Given the description of an element on the screen output the (x, y) to click on. 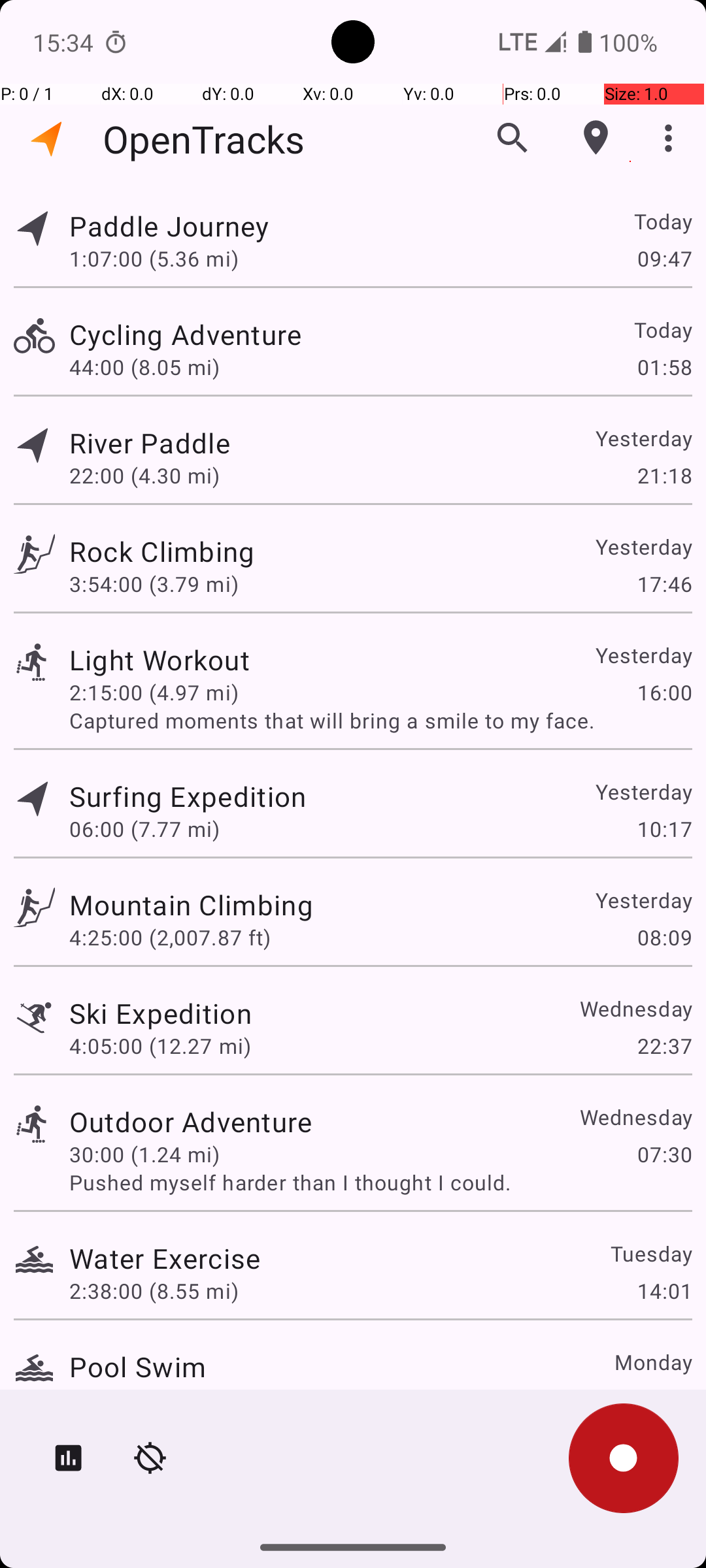
Paddle Journey Element type: android.widget.TextView (168, 225)
1:07:00 (5.36 mi) Element type: android.widget.TextView (153, 258)
09:47 Element type: android.widget.TextView (664, 258)
Cycling Adventure Element type: android.widget.TextView (185, 333)
44:00 (8.05 mi) Element type: android.widget.TextView (144, 366)
01:58 Element type: android.widget.TextView (664, 366)
River Paddle Element type: android.widget.TextView (149, 442)
22:00 (4.30 mi) Element type: android.widget.TextView (144, 475)
21:18 Element type: android.widget.TextView (664, 475)
Rock Climbing Element type: android.widget.TextView (161, 550)
3:54:00 (3.79 mi) Element type: android.widget.TextView (153, 583)
17:46 Element type: android.widget.TextView (664, 583)
Light Workout Element type: android.widget.TextView (159, 659)
2:15:00 (4.97 mi) Element type: android.widget.TextView (153, 692)
Captured moments that will bring a smile to my face. Element type: android.widget.TextView (380, 720)
Surfing Expedition Element type: android.widget.TextView (187, 795)
06:00 (7.77 mi) Element type: android.widget.TextView (144, 828)
10:17 Element type: android.widget.TextView (664, 828)
Mountain Climbing Element type: android.widget.TextView (190, 904)
4:25:00 (2,007.87 ft) Element type: android.widget.TextView (169, 937)
08:09 Element type: android.widget.TextView (664, 937)
Ski Expedition Element type: android.widget.TextView (160, 1012)
4:05:00 (12.27 mi) Element type: android.widget.TextView (159, 1045)
22:37 Element type: android.widget.TextView (664, 1045)
Outdoor Adventure Element type: android.widget.TextView (190, 1121)
30:00 (1.24 mi) Element type: android.widget.TextView (144, 1154)
07:30 Element type: android.widget.TextView (664, 1154)
Pushed myself harder than I thought I could. Element type: android.widget.TextView (380, 1182)
Water Exercise Element type: android.widget.TextView (164, 1257)
2:38:00 (8.55 mi) Element type: android.widget.TextView (153, 1290)
14:01 Element type: android.widget.TextView (664, 1290)
Pool Swim Element type: android.widget.TextView (137, 1366)
1:08:00 (5.91 mi) Element type: android.widget.TextView (153, 1399)
05:29 Element type: android.widget.TextView (664, 1399)
